Given the description of an element on the screen output the (x, y) to click on. 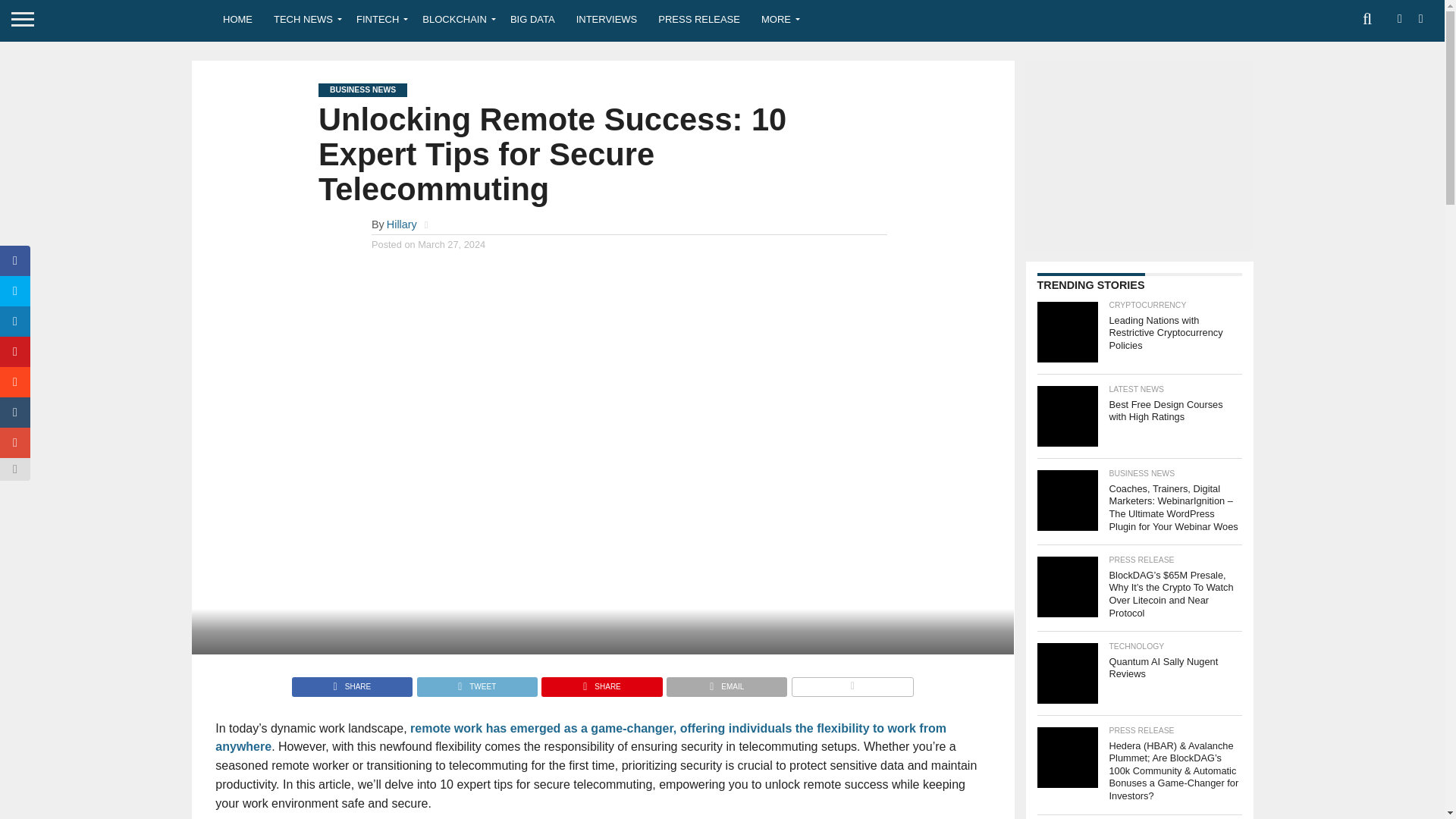
Tweet This Post (476, 682)
Pin This Post (601, 682)
Posts by Hillary (401, 224)
Share on Facebook (352, 682)
